Given the description of an element on the screen output the (x, y) to click on. 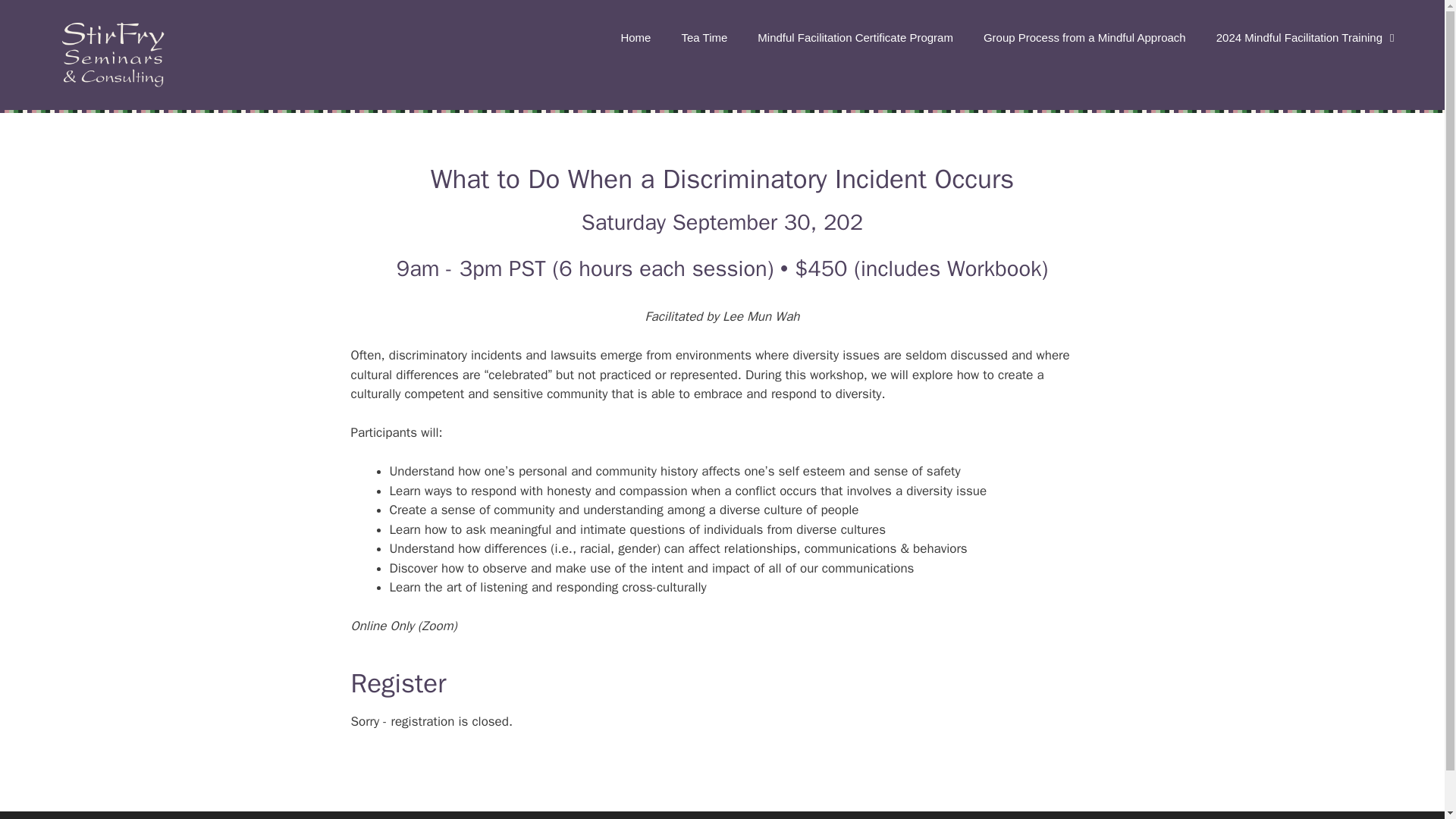
Mindful Facilitation Certificate Program (855, 37)
Tea Time (703, 37)
Home (635, 37)
2024 Mindful Facilitation Training (1307, 37)
Group Process from a Mindful Approach (1084, 37)
